Given the description of an element on the screen output the (x, y) to click on. 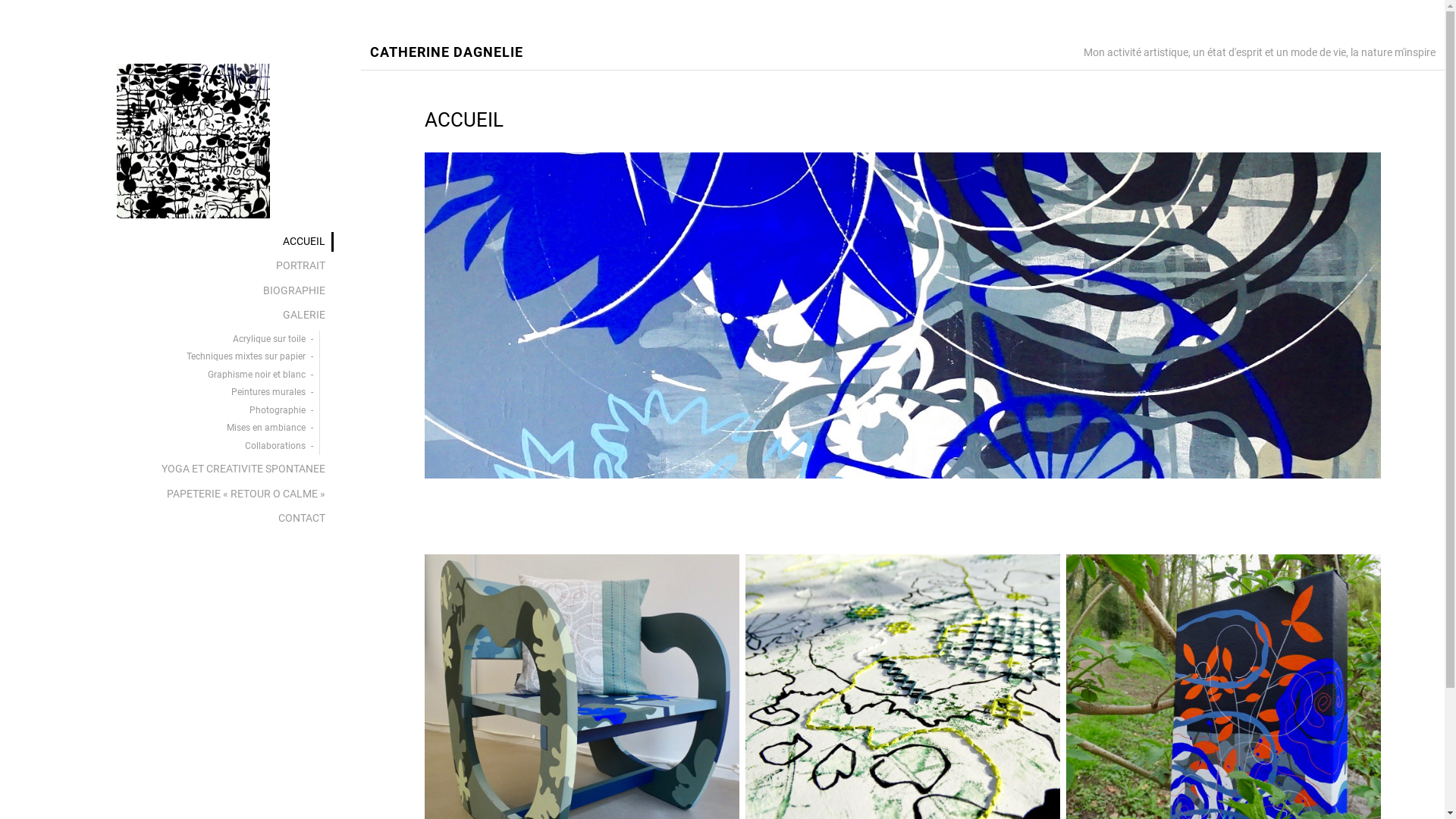
 Mises en ambiance Element type: text (173, 428)
BIOGRAPHIE Element type: text (180, 291)
CATHERINE DAGNELIE Element type: text (446, 52)
 Photographie Element type: text (173, 410)
CONTACT Element type: text (180, 518)
Techniques mixtes sur papier Element type: text (173, 357)
ACCUEIL Element type: text (180, 241)
PORTRAIT Element type: text (180, 266)
YOGA ET CREATIVITE SPONTANEE Element type: text (180, 469)
 Collaborations Element type: text (173, 446)
 Acrylique sur toile Element type: text (173, 339)
 Peintures murales Element type: text (173, 392)
Graphisme noir et blanc Element type: text (173, 375)
GALERIE Element type: text (180, 315)
